Given the description of an element on the screen output the (x, y) to click on. 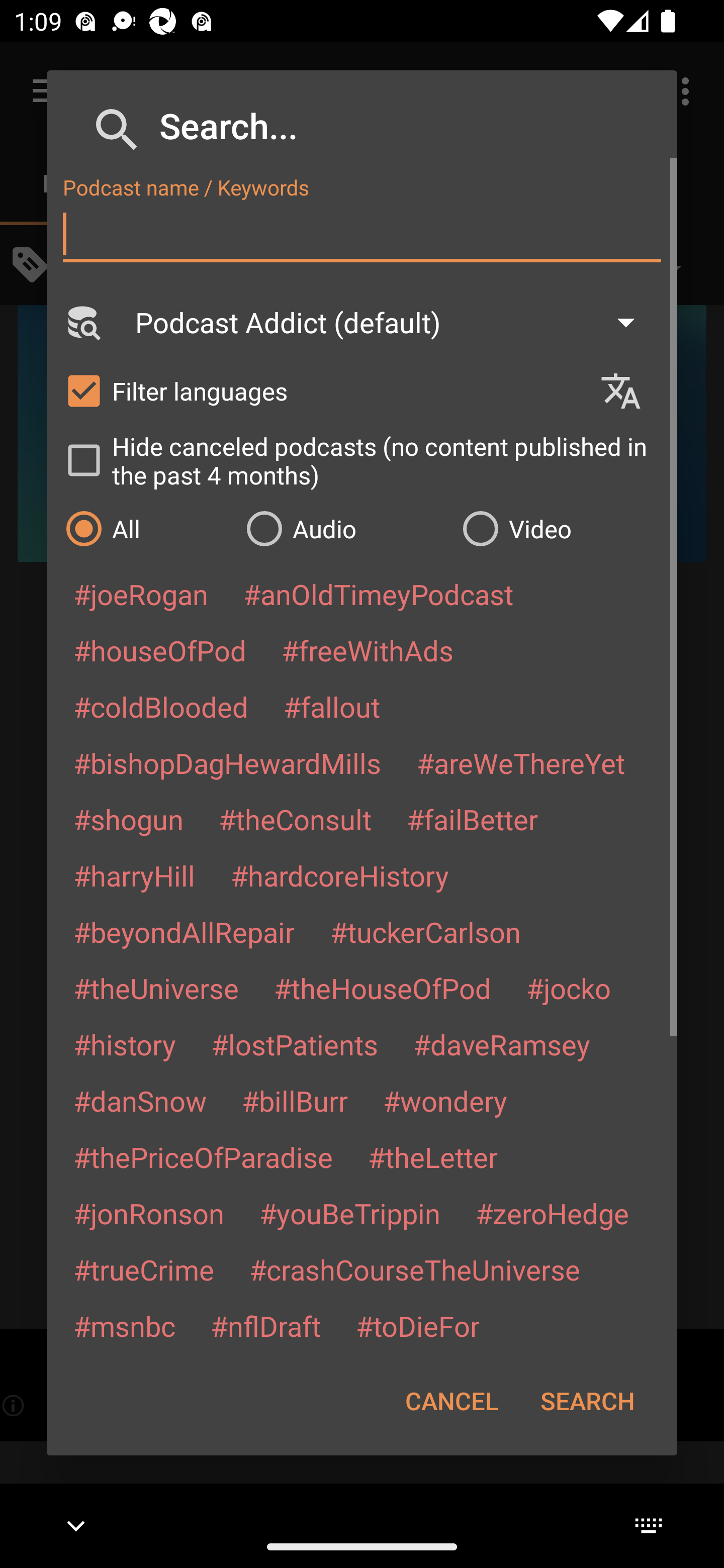
Podcast name / Keywords (361, 234)
Search Engine (82, 322)
Podcast Addict (default) (394, 322)
Languages selection (629, 390)
Filter languages (322, 390)
All (145, 528)
Audio (344, 528)
Video (560, 528)
#joeRogan (140, 594)
#anOldTimeyPodcast (378, 594)
#houseOfPod (159, 650)
#freeWithAds (367, 650)
#coldBlooded (160, 705)
#fallout (331, 705)
#bishopDagHewardMills (227, 762)
#areWeThereYet (521, 762)
#shogun (128, 818)
#theConsult (294, 818)
#failBetter (471, 818)
#harryHill (134, 875)
#hardcoreHistory (339, 875)
#beyondAllRepair (184, 931)
#tuckerCarlson (425, 931)
#theUniverse (155, 987)
#theHouseOfPod (381, 987)
#jocko (568, 987)
#history (124, 1044)
#lostPatients (294, 1044)
#daveRamsey (501, 1044)
#danSnow (139, 1100)
#billBurr (294, 1100)
#wondery (444, 1100)
#thePriceOfParadise (203, 1157)
#theLetter (432, 1157)
#jonRonson (148, 1213)
#youBeTrippin (349, 1213)
#zeroHedge (552, 1213)
#trueCrime (143, 1268)
#crashCourseTheUniverse (414, 1268)
#msnbc (124, 1325)
#nflDraft (265, 1325)
#toDieFor (417, 1325)
CANCEL (451, 1400)
SEARCH (587, 1400)
